Given the description of an element on the screen output the (x, y) to click on. 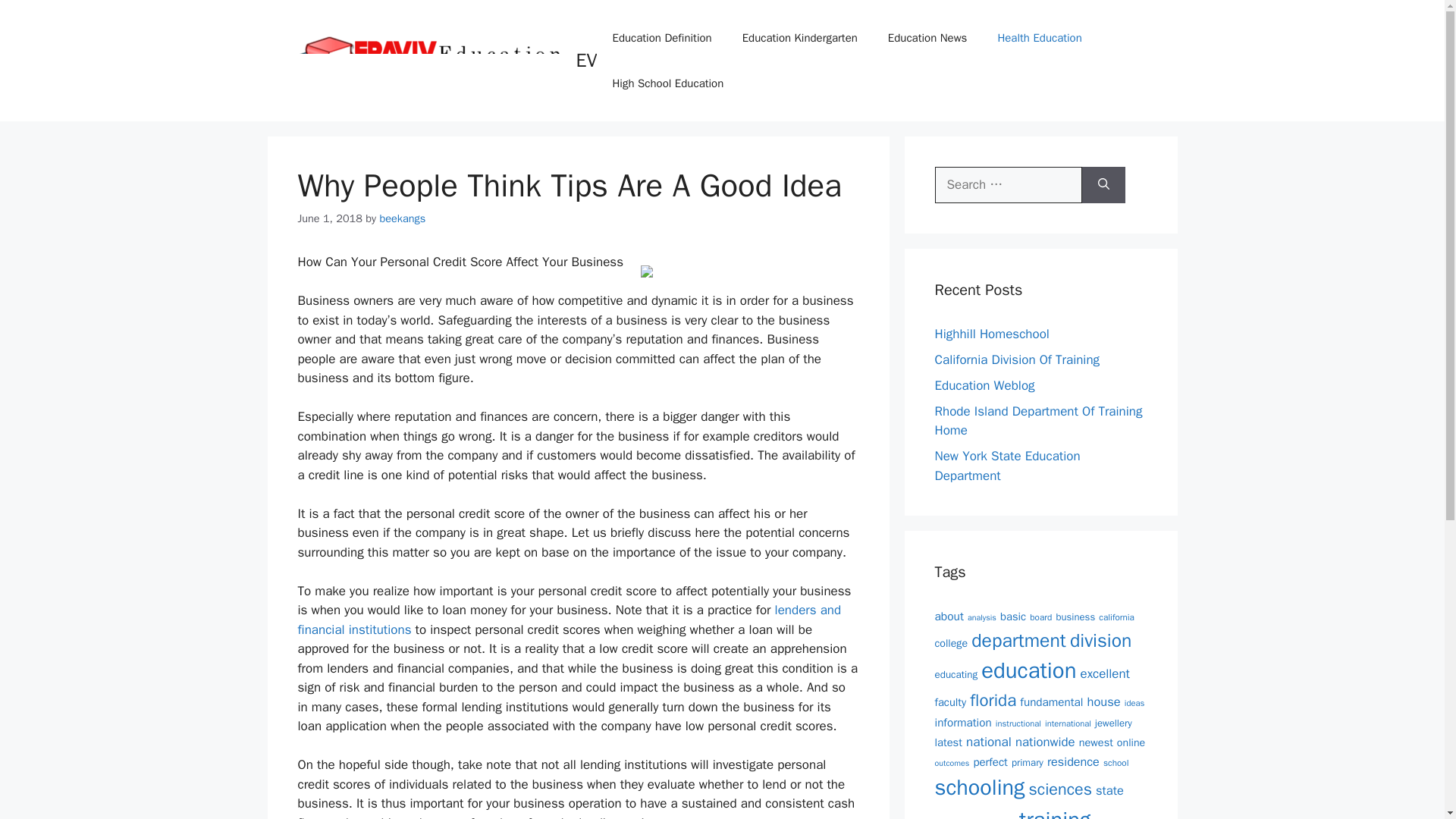
florida (992, 700)
Education Definition (661, 37)
california (1116, 616)
educating (955, 674)
EV (586, 60)
Rhode Island Department Of Training Home (1037, 420)
Education News (927, 37)
department (1018, 639)
Search for: (1007, 185)
analysis (981, 617)
